Given the description of an element on the screen output the (x, y) to click on. 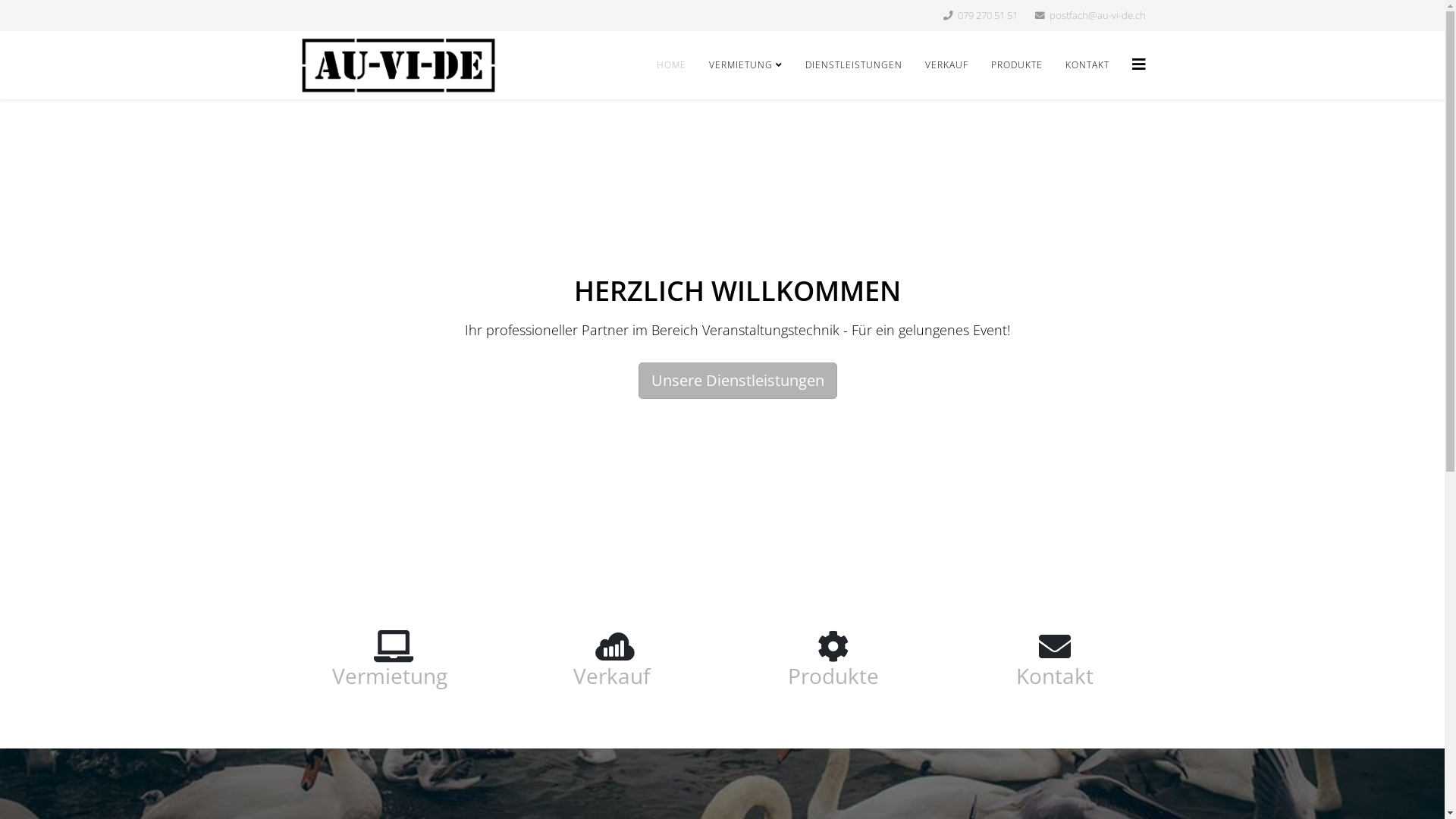
postfach@au-vi-de.ch Element type: text (1097, 15)
Unsere Dienstleistungen Element type: text (737, 380)
KONTAKT Element type: text (1087, 65)
Vermietung Element type: text (389, 675)
VERKAUF Element type: text (946, 65)
Helix3 Megamenu Options Element type: hover (1138, 64)
Kontakt Element type: text (1054, 675)
Produkte Element type: text (832, 675)
HOME Element type: text (670, 65)
079 270 51 51 Element type: text (986, 15)
PRODUKTE Element type: text (1016, 65)
VERMIETUNG Element type: text (745, 65)
Verkauf Element type: text (611, 675)
DIENSTLEISTUNGEN Element type: text (853, 65)
